Given the description of an element on the screen output the (x, y) to click on. 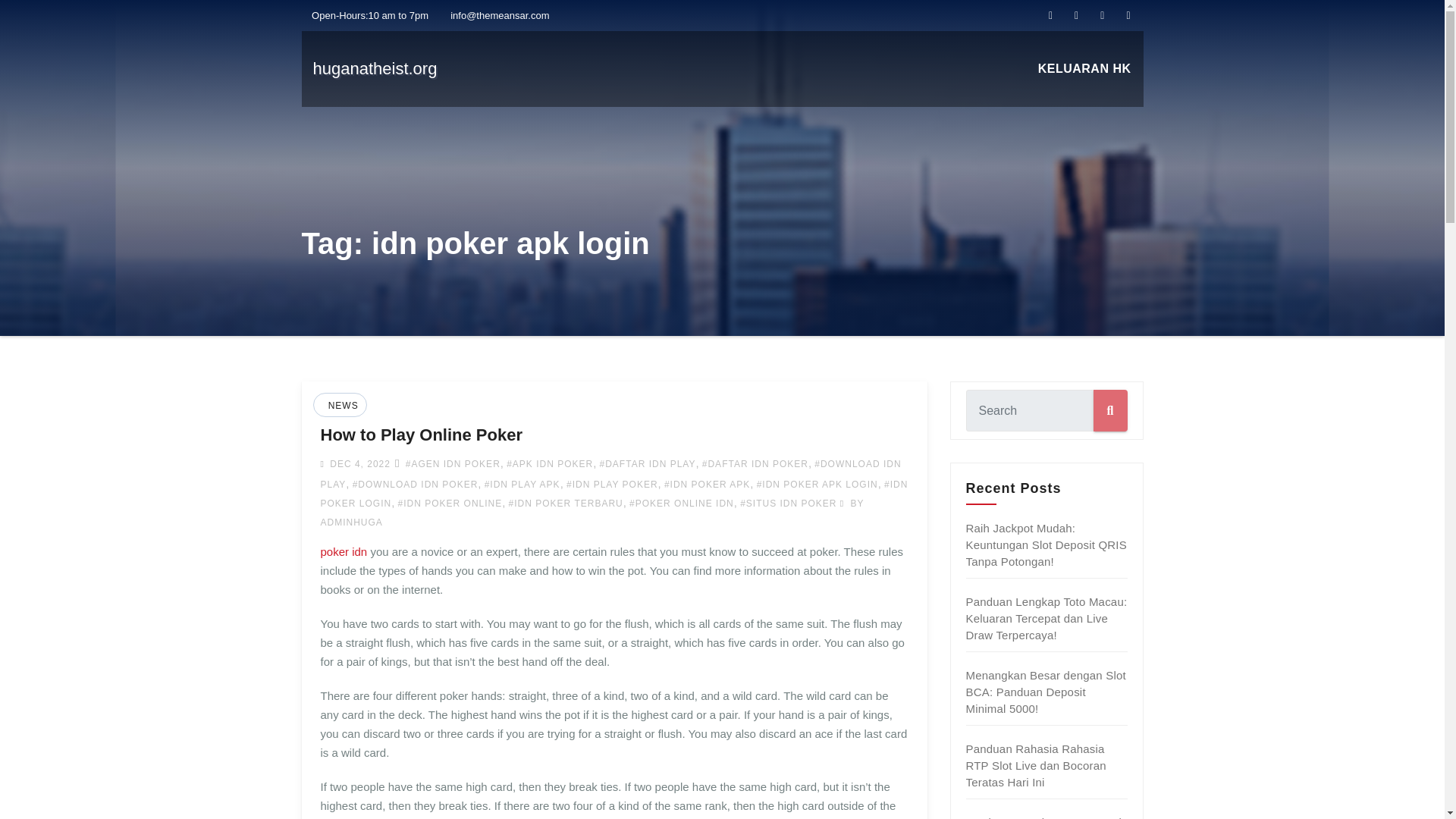
KELUARAN HK (1084, 69)
Permalink to: How to Play Online Poker (421, 434)
NEWS (341, 405)
DEC 4, 2022 (358, 463)
Keluaran Hk (1084, 69)
poker idn (343, 551)
huganatheist.org (374, 68)
Open-Hours:10 am to 7pm (365, 15)
BY ADMINHUGA (591, 512)
How to Play Online Poker (421, 434)
